Given the description of an element on the screen output the (x, y) to click on. 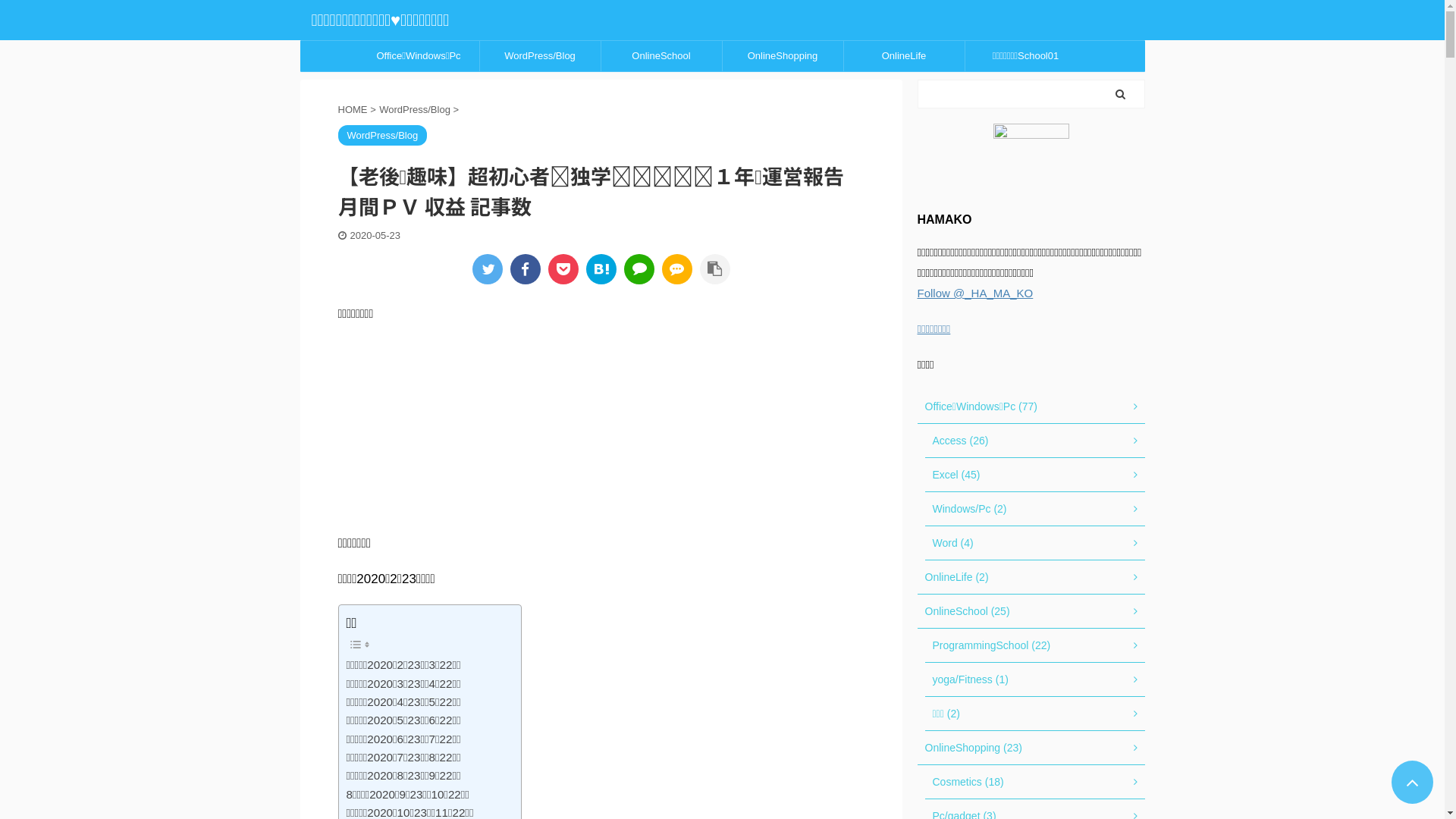
OnlineLife Element type: text (903, 55)
OnlineLife (2) Element type: text (1031, 577)
Follow @_HA_MA_KO Element type: text (975, 292)
OnlineSchool (25) Element type: text (1031, 611)
Advertisement Element type: hover (601, 426)
Access (26) Element type: text (1035, 440)
OnlineShopping Element type: text (781, 55)
OnlineSchool Element type: text (660, 55)
HOME Element type: text (354, 109)
Excel (45) Element type: text (1035, 475)
OnlineShopping (23) Element type: text (1031, 748)
ProgrammingSchool (22) Element type: text (1035, 645)
Word (4) Element type: text (1035, 543)
WordPress/Blog Element type: text (539, 55)
Windows/Pc (2) Element type: text (1035, 509)
yoga/Fitness (1) Element type: text (1035, 679)
WordPress/Blog Element type: text (415, 109)
WordPress/Blog Element type: text (382, 135)
Cosmetics (18) Element type: text (1035, 782)
